Given the description of an element on the screen output the (x, y) to click on. 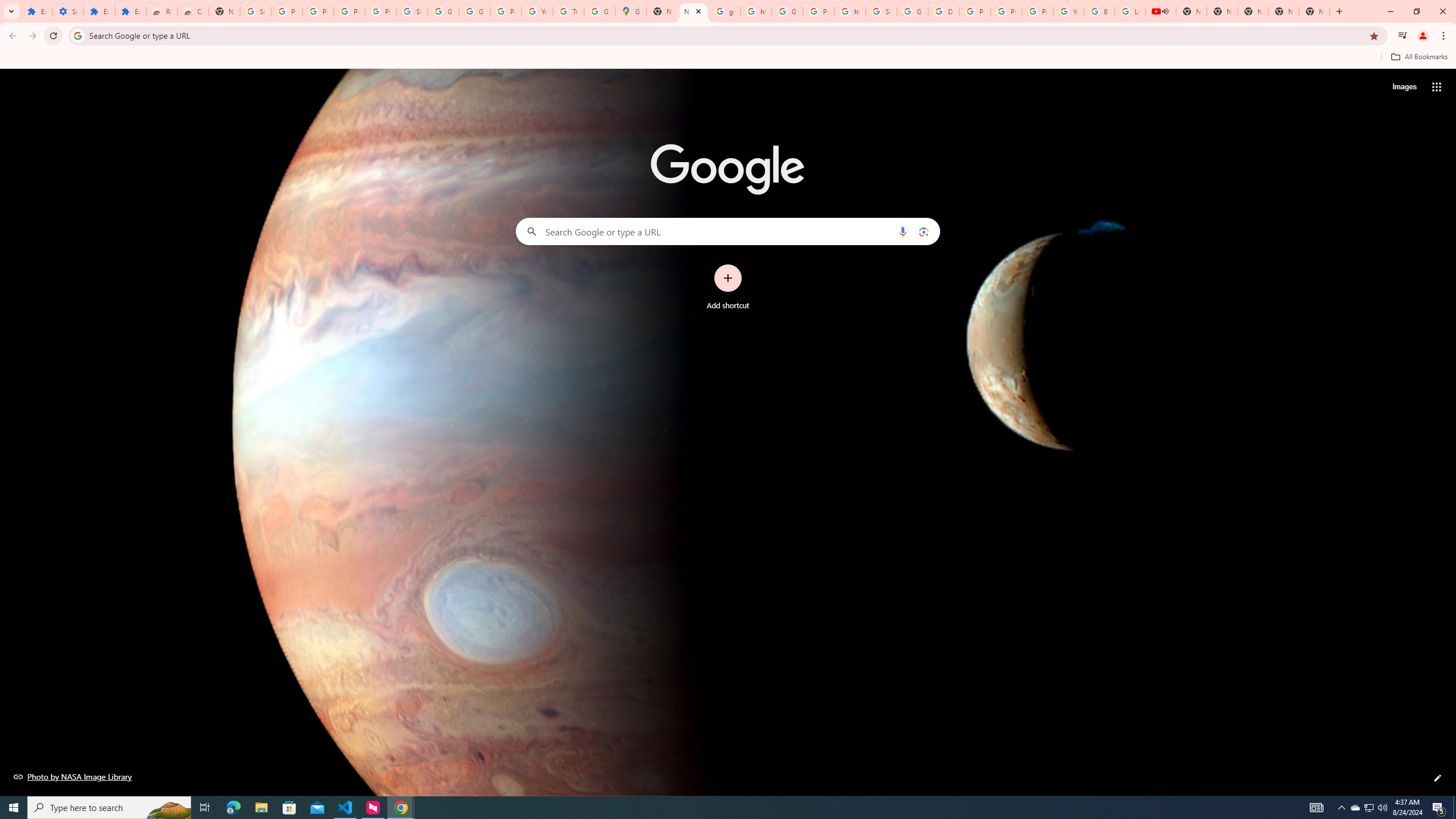
https://scholar.google.com/ (849, 11)
https://scholar.google.com/ (756, 11)
